Given the description of an element on the screen output the (x, y) to click on. 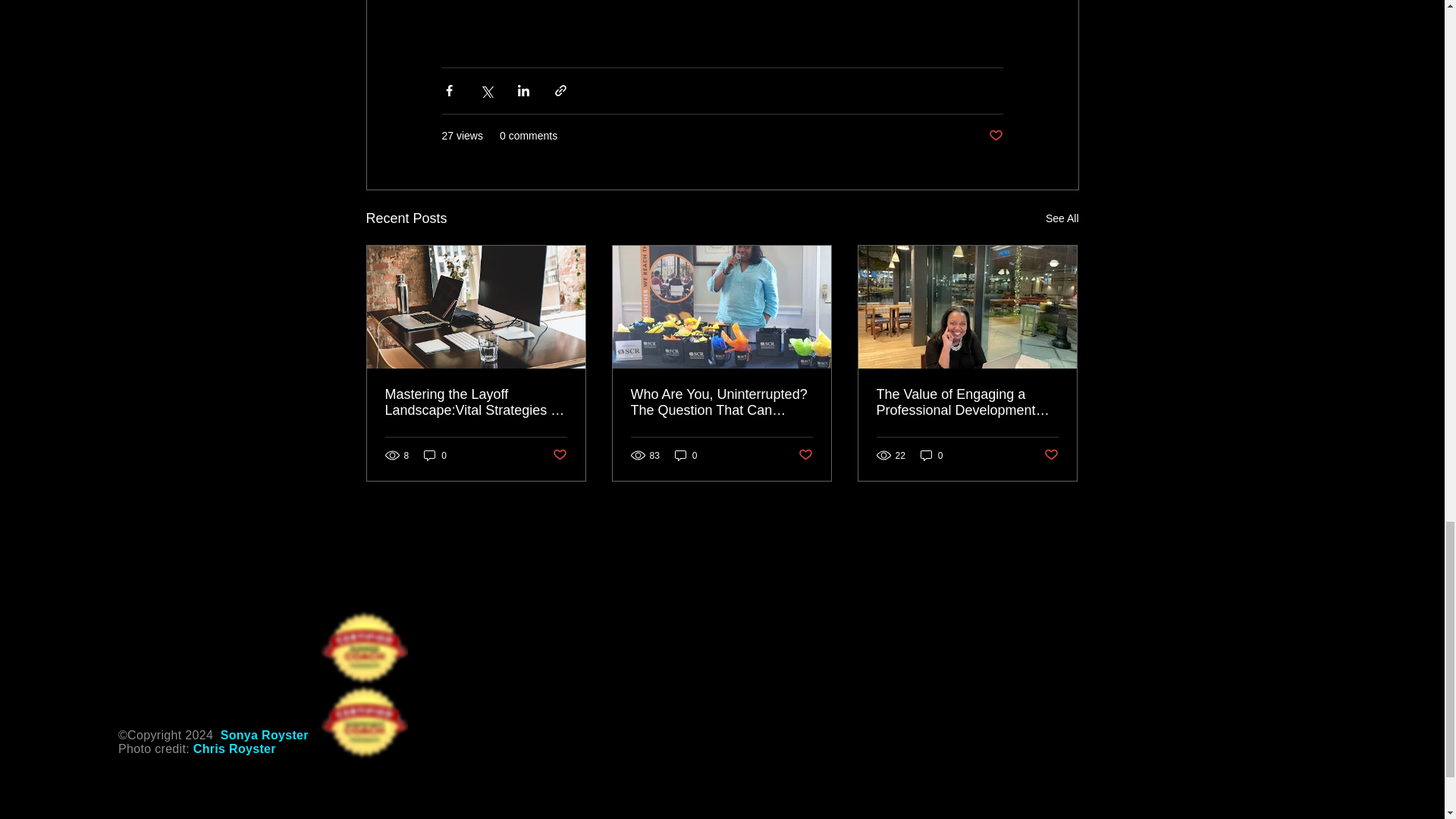
Post not marked as liked (558, 455)
0 (435, 454)
Post not marked as liked (995, 135)
See All (1061, 219)
